Given the description of an element on the screen output the (x, y) to click on. 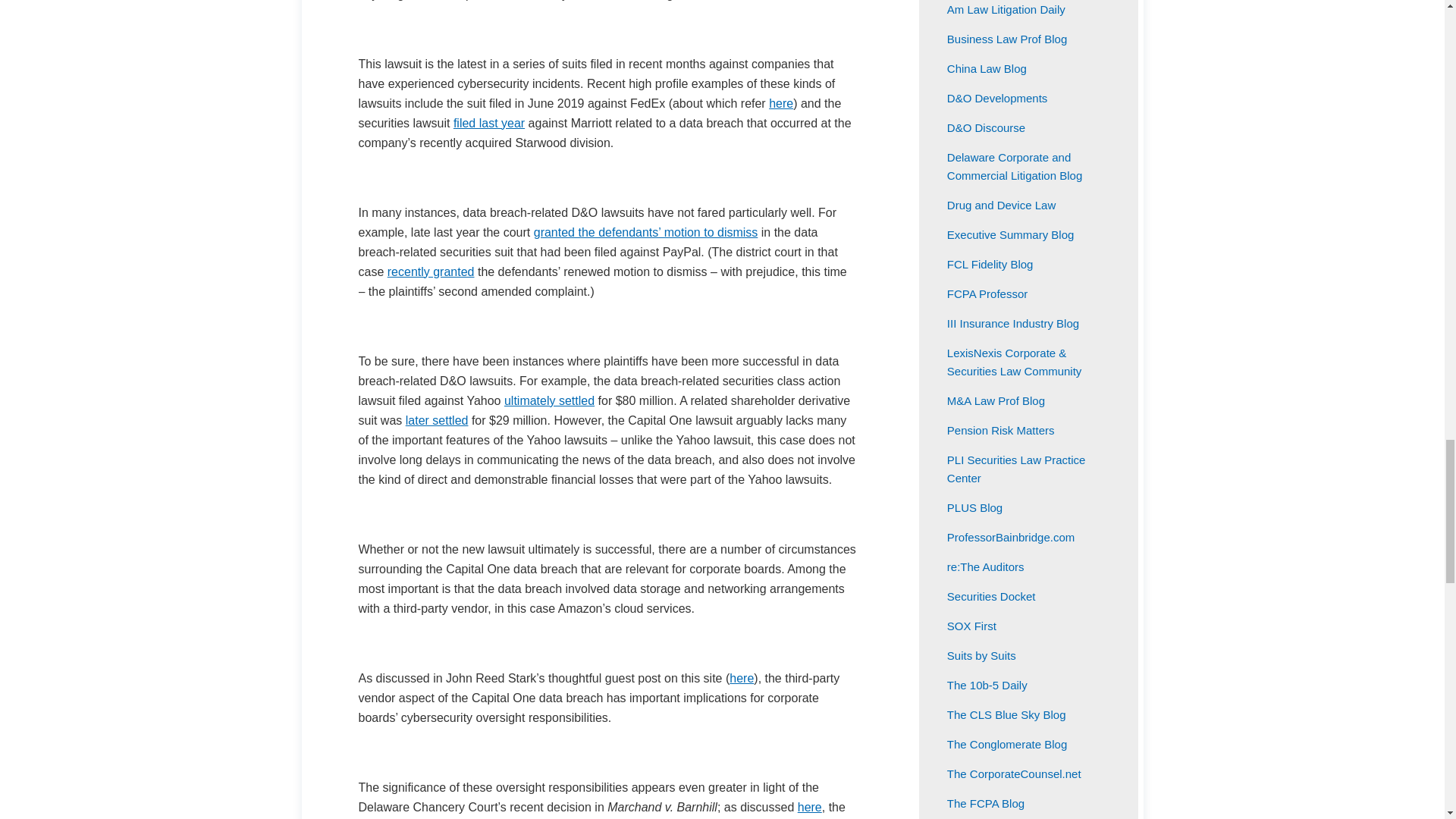
ultimately settled (548, 400)
here (809, 807)
later settled (437, 420)
recently granted (430, 271)
here (780, 103)
filed last year (488, 123)
here (741, 677)
